Given the description of an element on the screen output the (x, y) to click on. 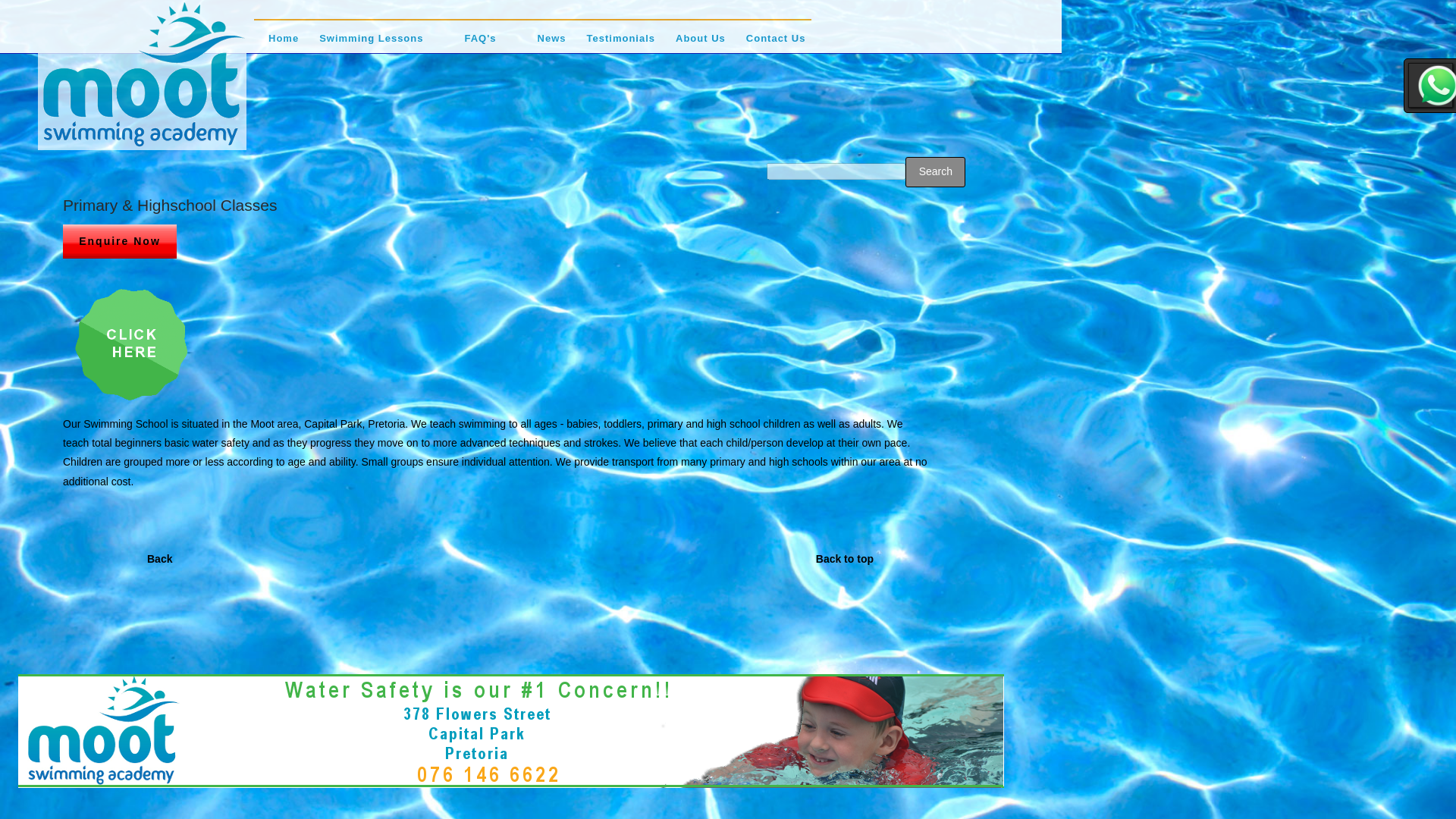
Search (935, 172)
Back (159, 558)
Back to top (844, 558)
Swimming Lessons (371, 45)
Enquire Now (119, 240)
FAQ'S (480, 45)
Search (935, 172)
News (551, 45)
Contact Us (775, 45)
About Us (700, 45)
